Given the description of an element on the screen output the (x, y) to click on. 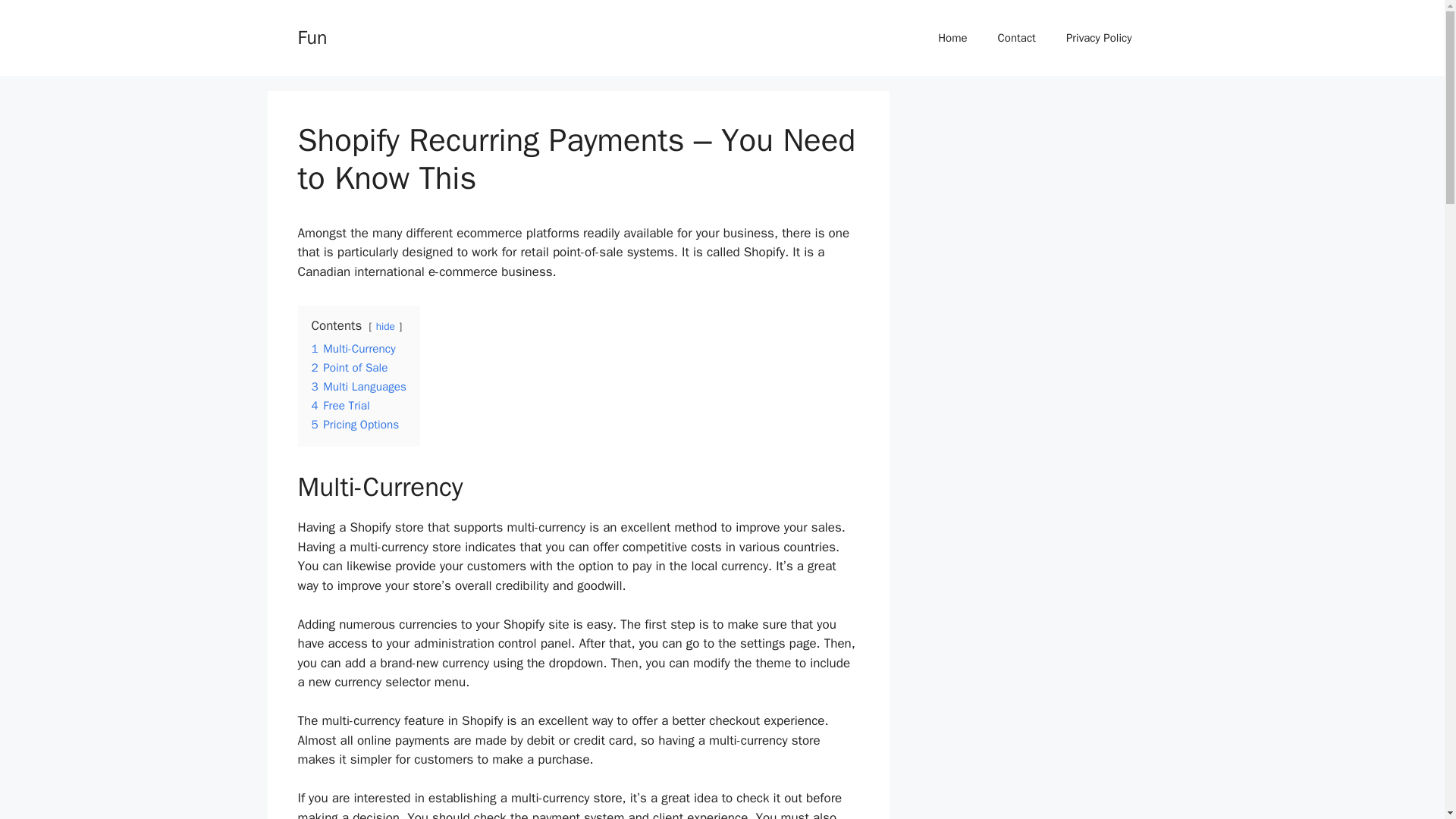
3 Multi Languages (358, 386)
hide (384, 326)
2 Point of Sale (349, 367)
5 Pricing Options (354, 424)
4 Free Trial (340, 405)
Privacy Policy (1099, 37)
Home (952, 37)
Fun (311, 37)
Contact (1016, 37)
1 Multi-Currency (352, 348)
